Given the description of an element on the screen output the (x, y) to click on. 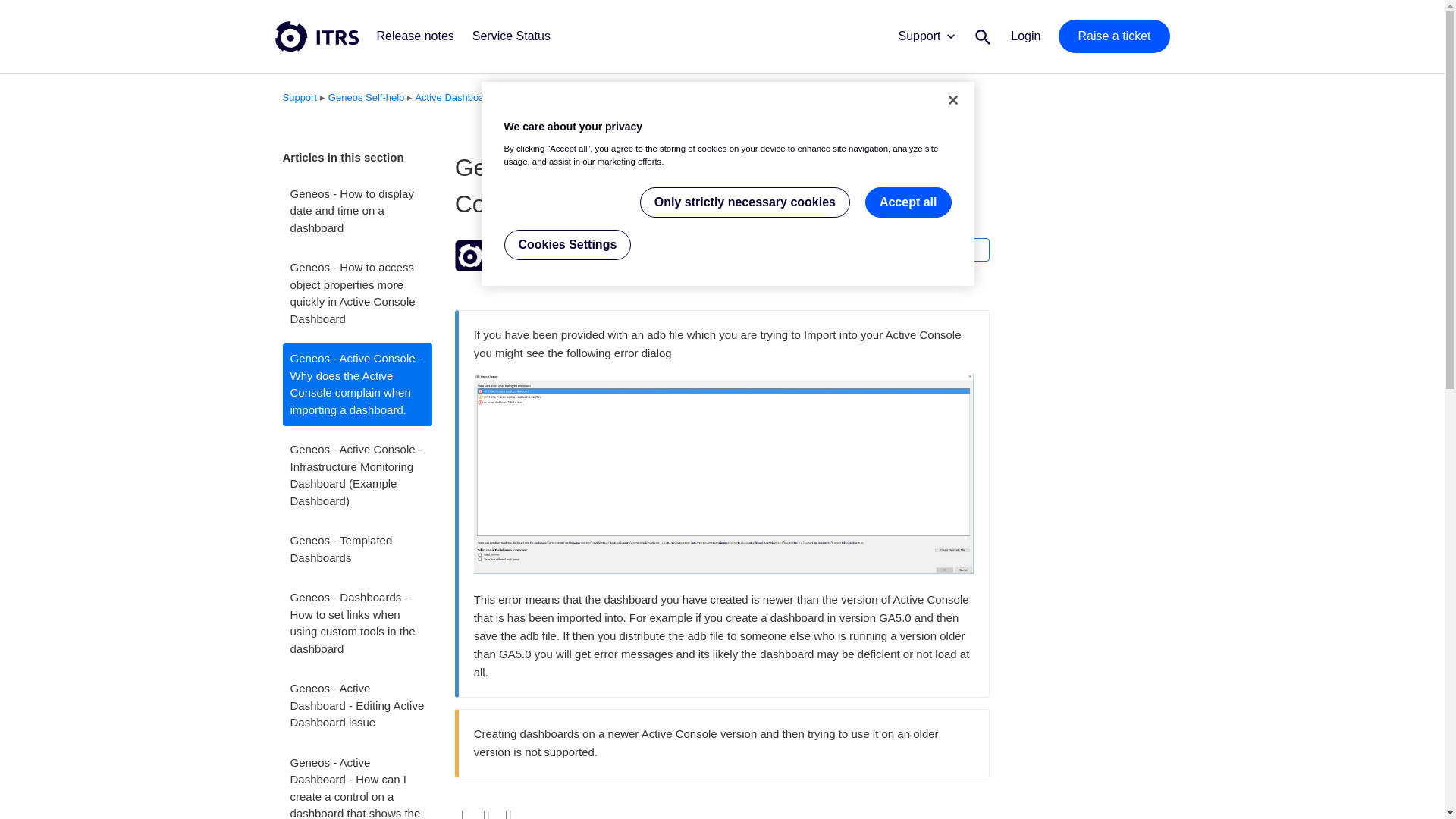
Geneos - How to display date and time on a dashboard (356, 210)
2024-05-12 15:28 (526, 264)
Login (1025, 36)
Active Dashboard and Palette FAQs (493, 97)
ITRS Support (532, 245)
Geneos Self-help (362, 97)
Raise a ticket (1113, 36)
LinkedIn (508, 813)
Twitter (486, 813)
Support (925, 41)
Follow (960, 249)
Geneos Self-help (366, 97)
